Given the description of an element on the screen output the (x, y) to click on. 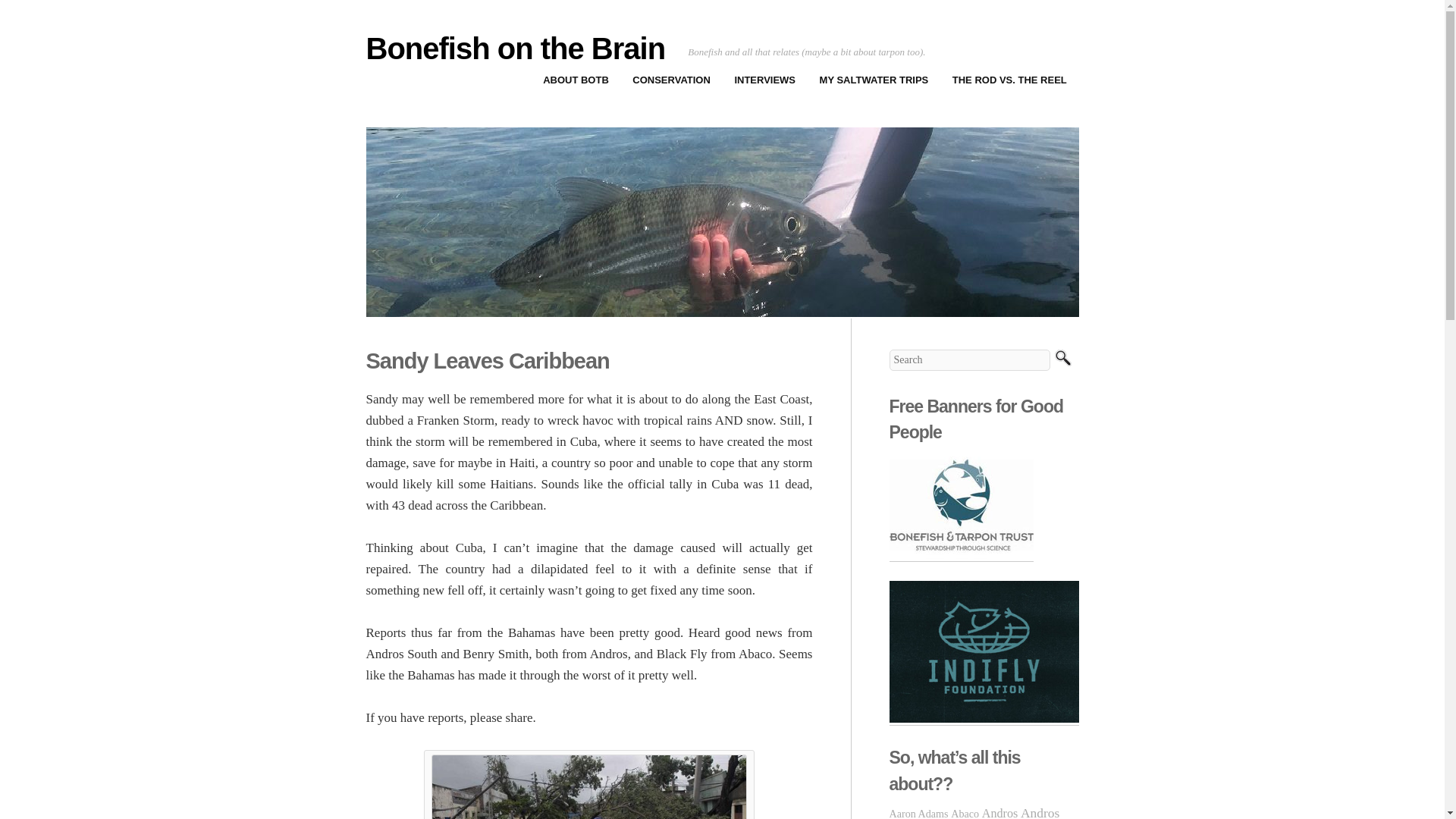
ABOUT BOTB (575, 79)
Bonefish on the Brain (515, 48)
INTERVIEWS (765, 79)
Cuba Sandy (588, 786)
Bonefish on the Brain (515, 48)
THE ROD VS. THE REEL (1009, 79)
Search (1061, 359)
MY SALTWATER TRIPS (874, 79)
CONSERVATION (671, 79)
